Given the description of an element on the screen output the (x, y) to click on. 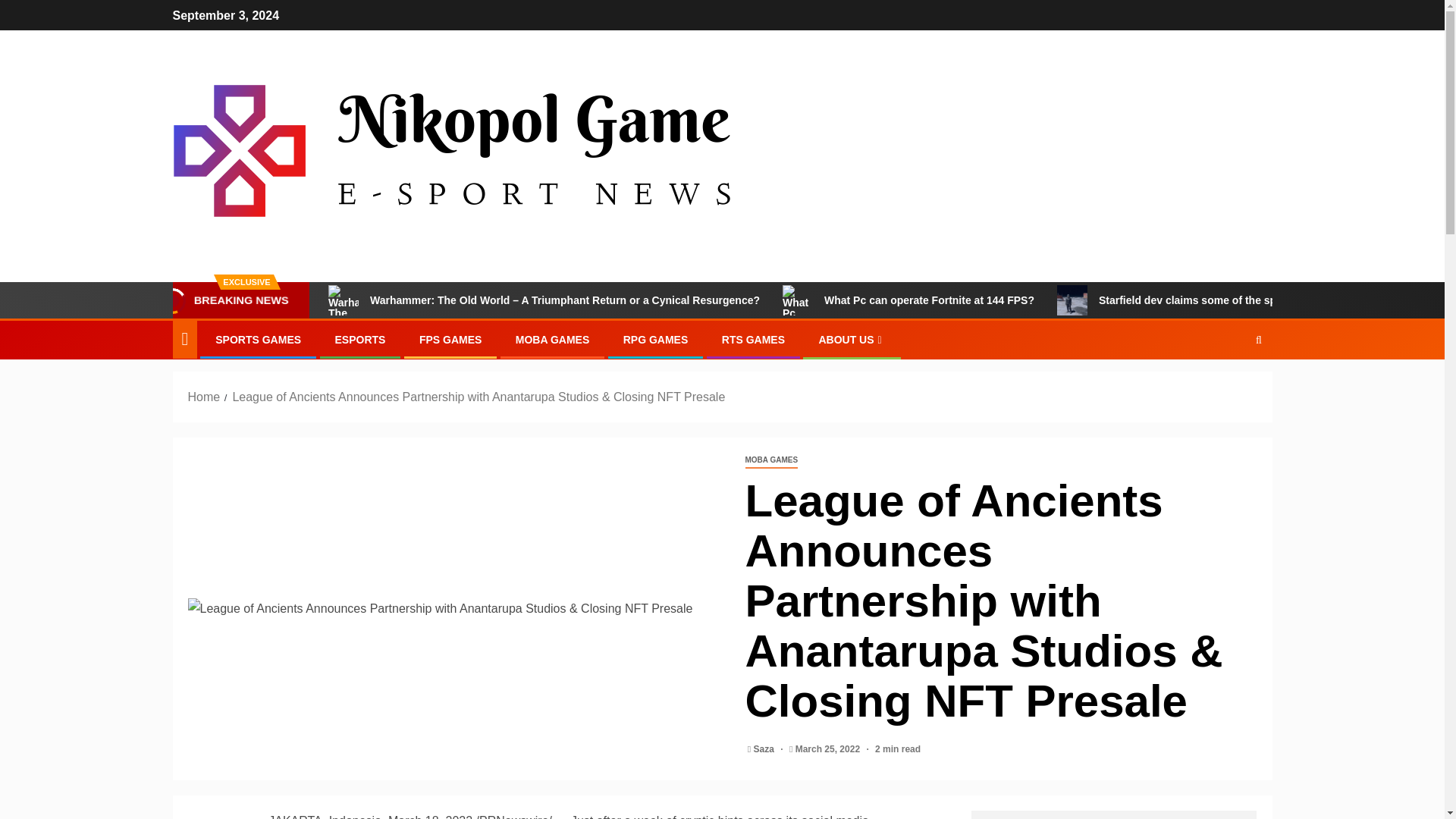
ABOUT US (851, 339)
FPS GAMES (450, 339)
Search (1229, 386)
MOBA GAMES (770, 460)
What Pc can operate Fortnite at 144 FPS? (908, 300)
Saza (765, 748)
MOBA GAMES (552, 339)
ESPORTS (359, 339)
SPORTS GAMES (258, 339)
Home (204, 396)
